Given the description of an element on the screen output the (x, y) to click on. 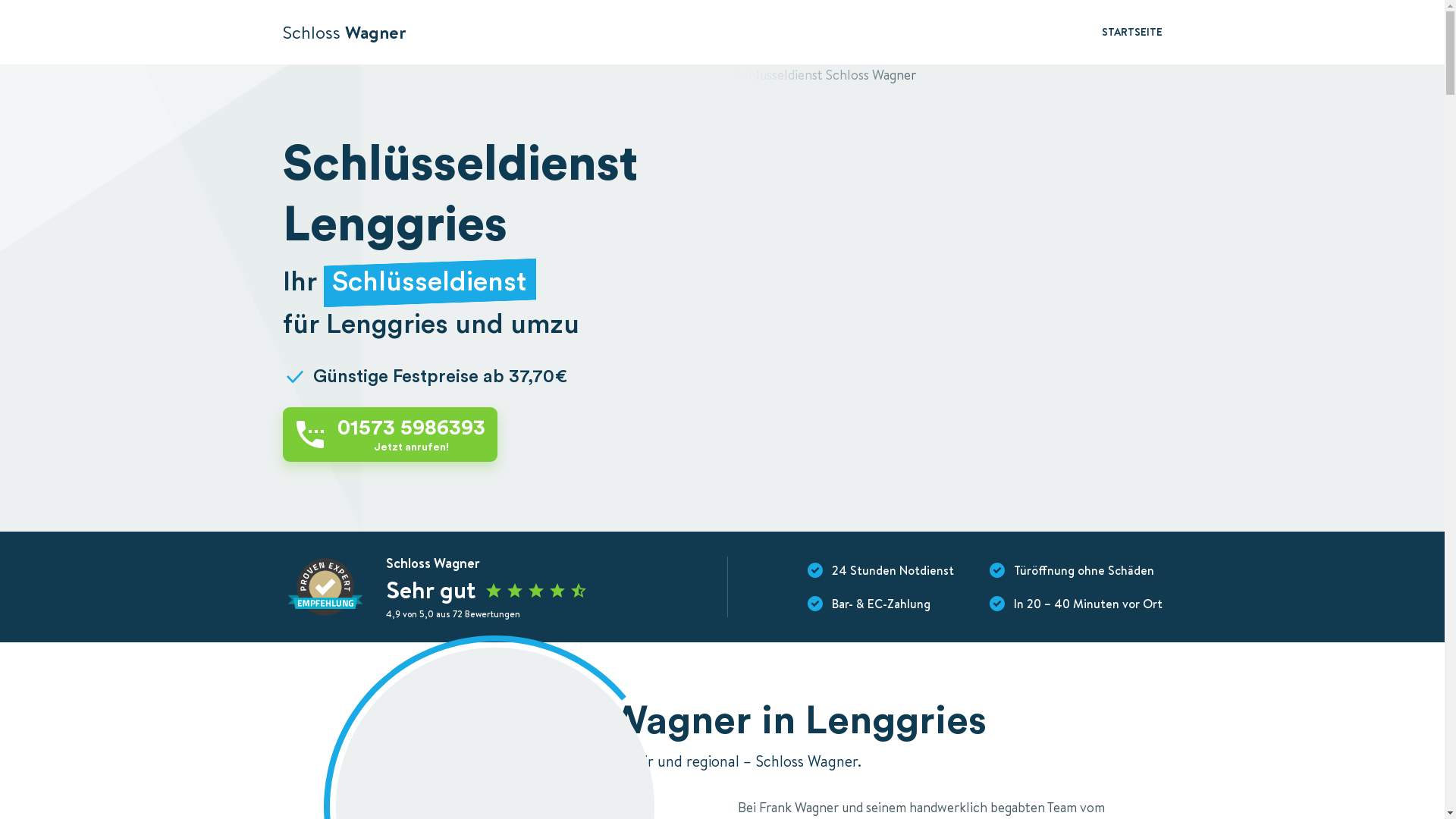
01573 5986393
Jetzt anrufen! Element type: text (389, 434)
Schloss Wagner Element type: text (343, 32)
STARTSEITE Element type: text (1131, 32)
